Given the description of an element on the screen output the (x, y) to click on. 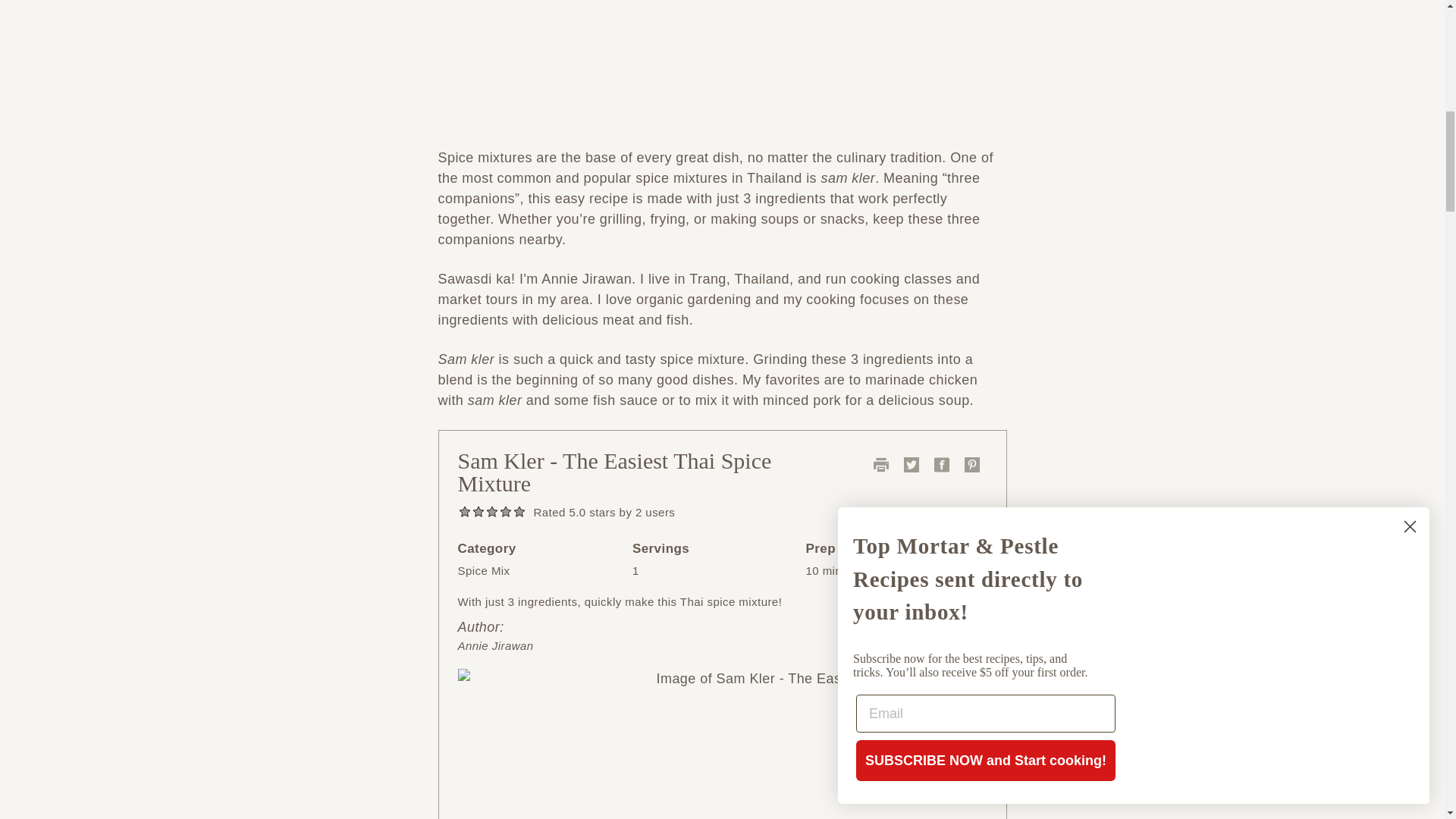
MENU (162, 46)
